Given the description of an element on the screen output the (x, y) to click on. 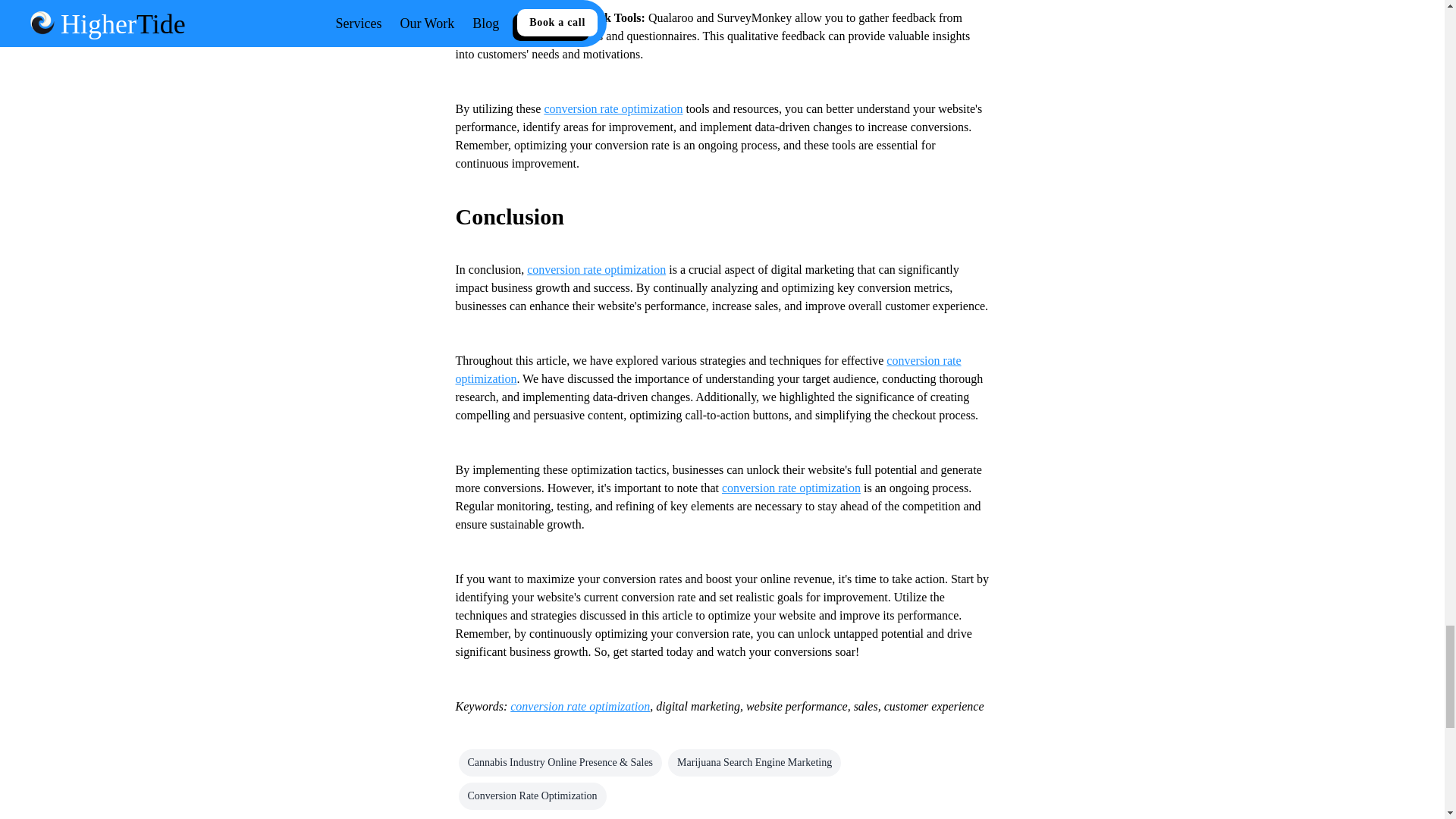
conversion rate optimization (596, 269)
conversion rate optimization (612, 108)
conversion rate optimization (791, 487)
conversion rate optimization (580, 706)
conversion rate optimization (707, 368)
Conversion Rate Optimization (531, 795)
Marijuana Search Engine Marketing (754, 762)
